Given the description of an element on the screen output the (x, y) to click on. 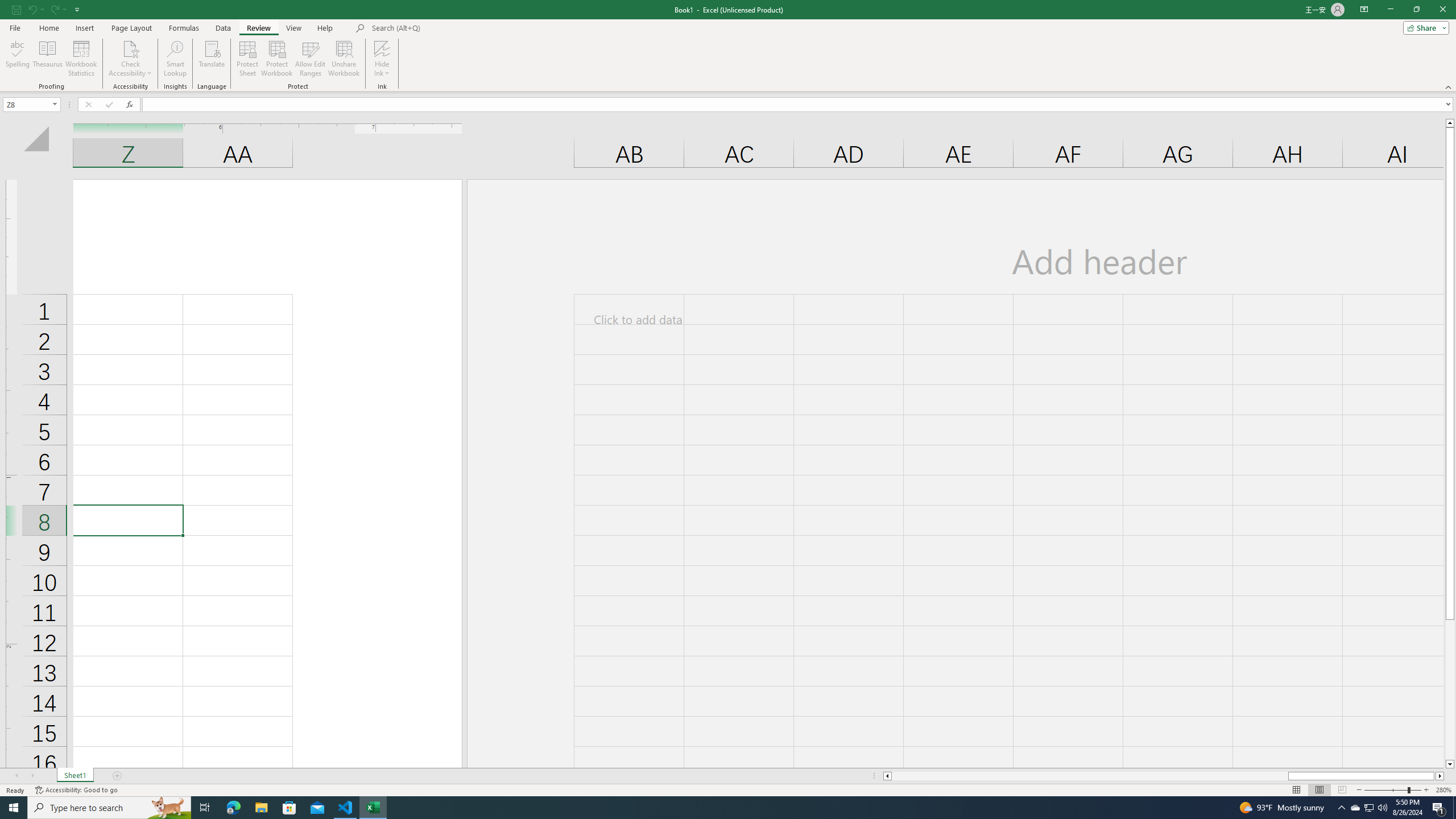
Translate (211, 58)
Allow Edit Ranges (310, 58)
